Given the description of an element on the screen output the (x, y) to click on. 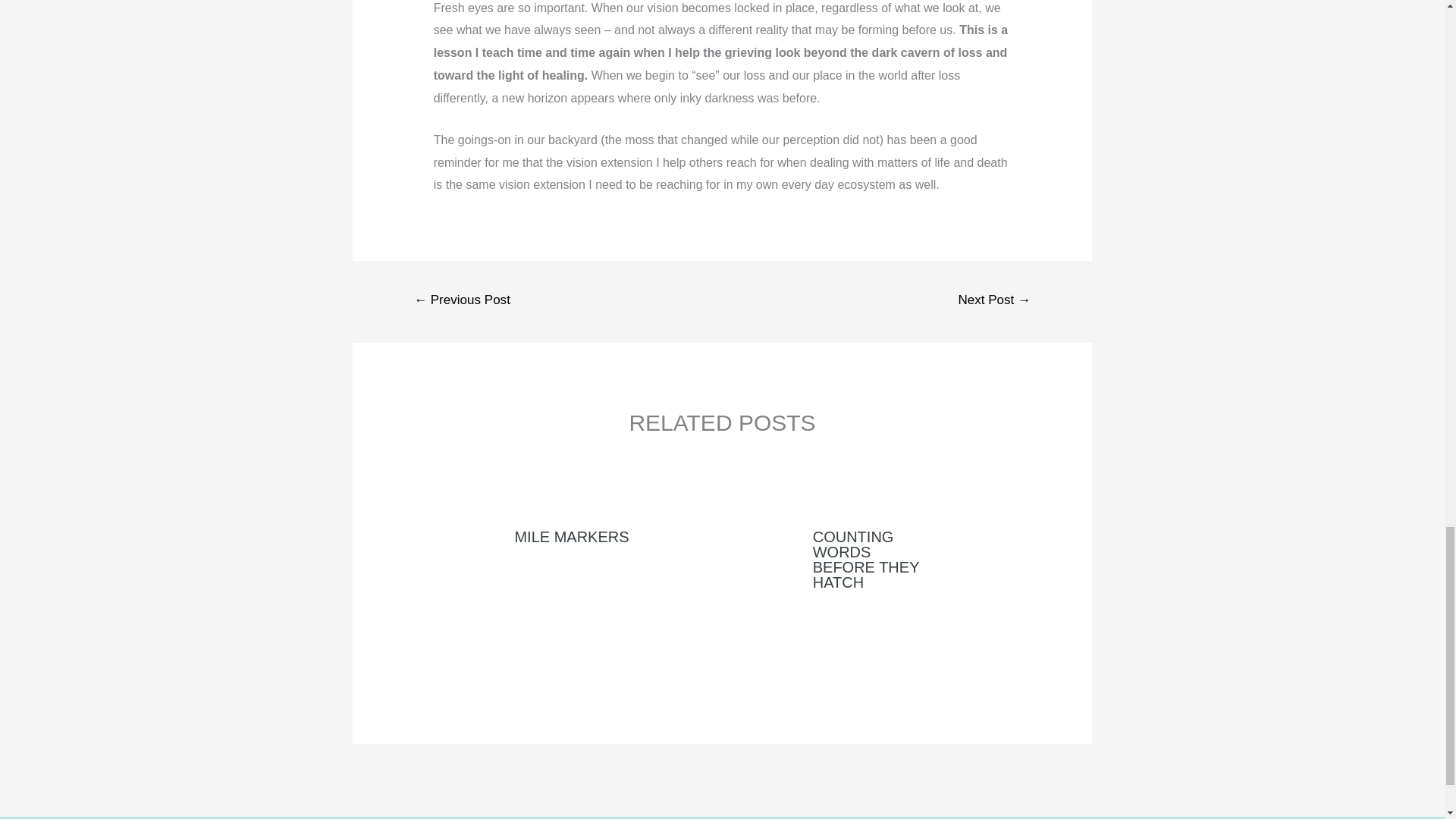
COUNTING WORDS BEFORE THEY HATCH (865, 559)
MILE MARKERS (570, 536)
